Given the description of an element on the screen output the (x, y) to click on. 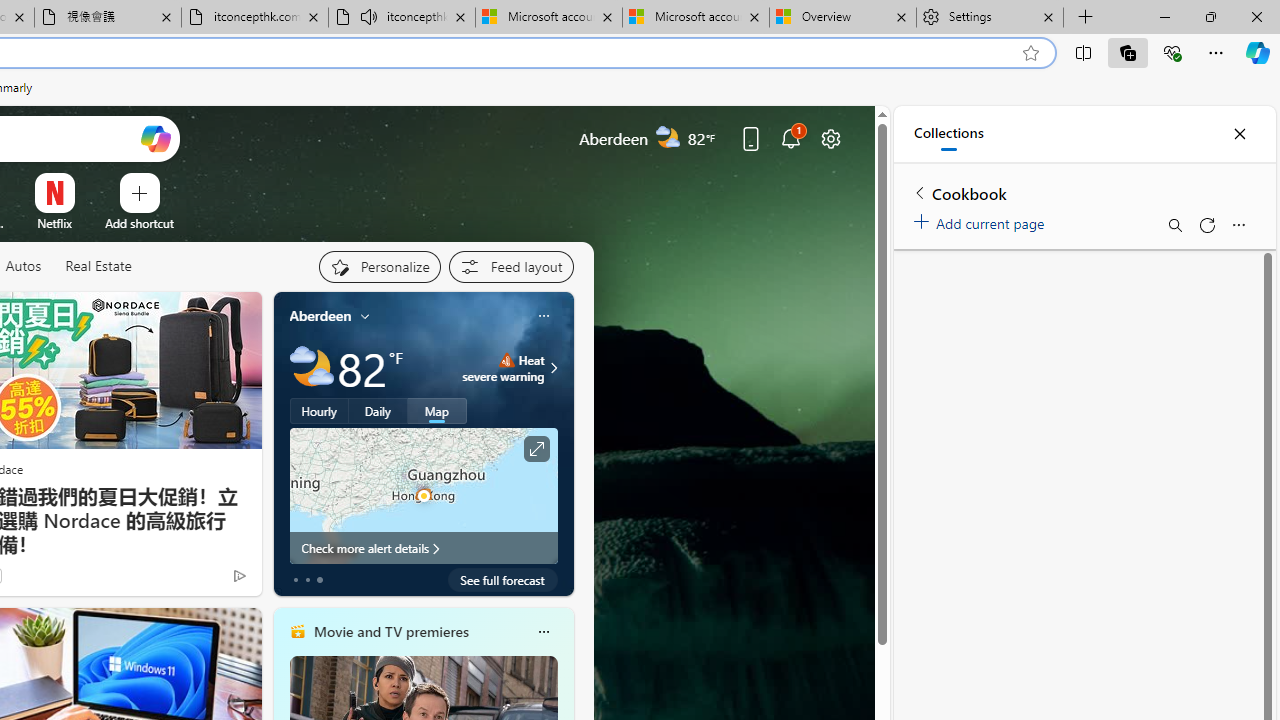
Hourly (319, 411)
itconcepthk.com/projector_solutions.mp4 - Audio playing (401, 17)
Check more alert details (423, 547)
Back to list of collections (920, 192)
Movie and TV premieres (390, 631)
You're following Newsweek (197, 579)
